Given the description of an element on the screen output the (x, y) to click on. 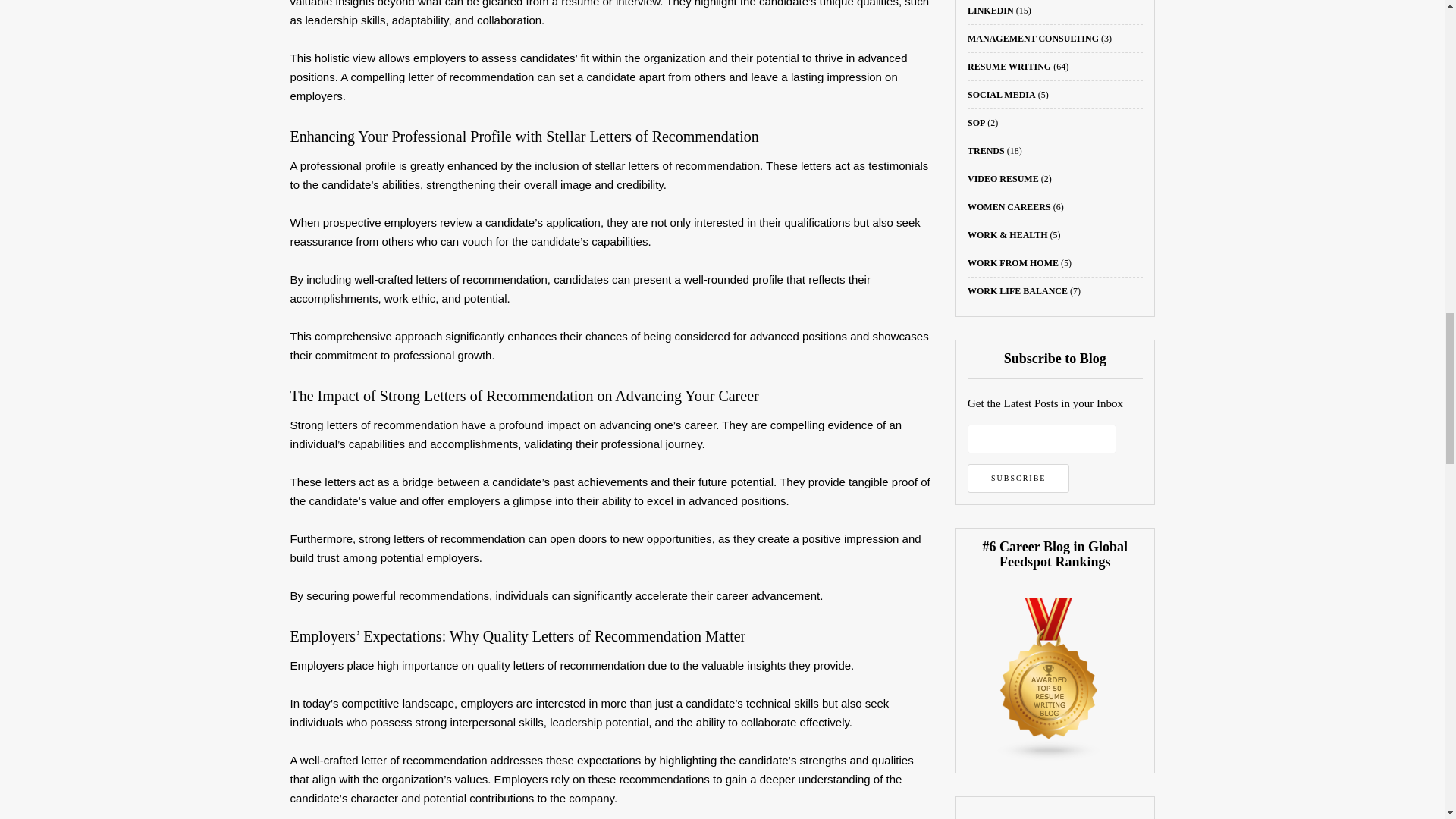
Subscribe (1018, 478)
Resume Writing blogs (1049, 677)
